Given the description of an element on the screen output the (x, y) to click on. 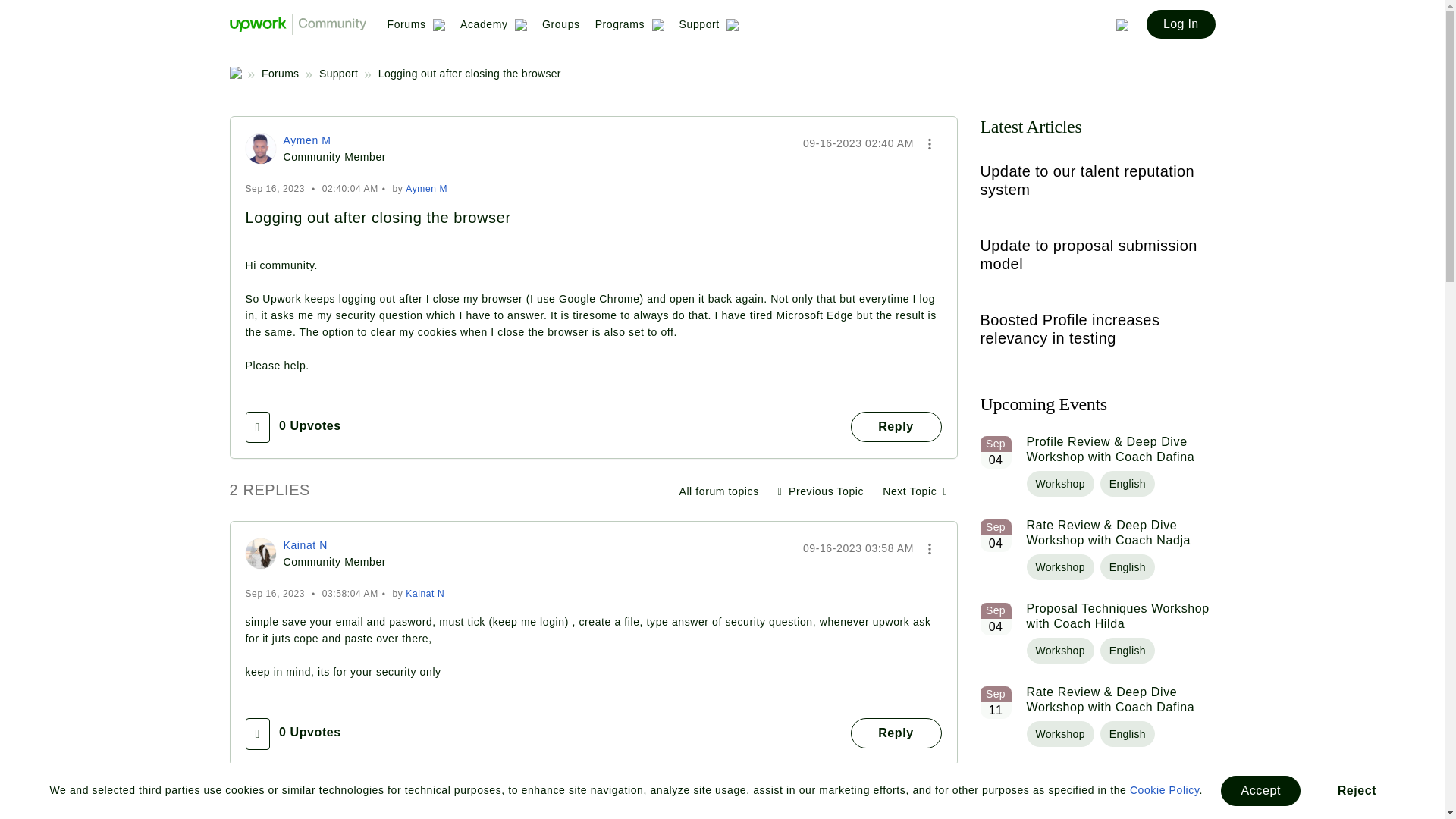
4fea3408 (261, 553)
aymenua (261, 148)
Moderator (366, 805)
The total number of upvotes this post has received. (309, 732)
Posted on (858, 547)
Cookie Policy (1164, 789)
Forums (416, 29)
Posted on (858, 808)
Support Forum (718, 491)
Reject (1356, 790)
